Given the description of an element on the screen output the (x, y) to click on. 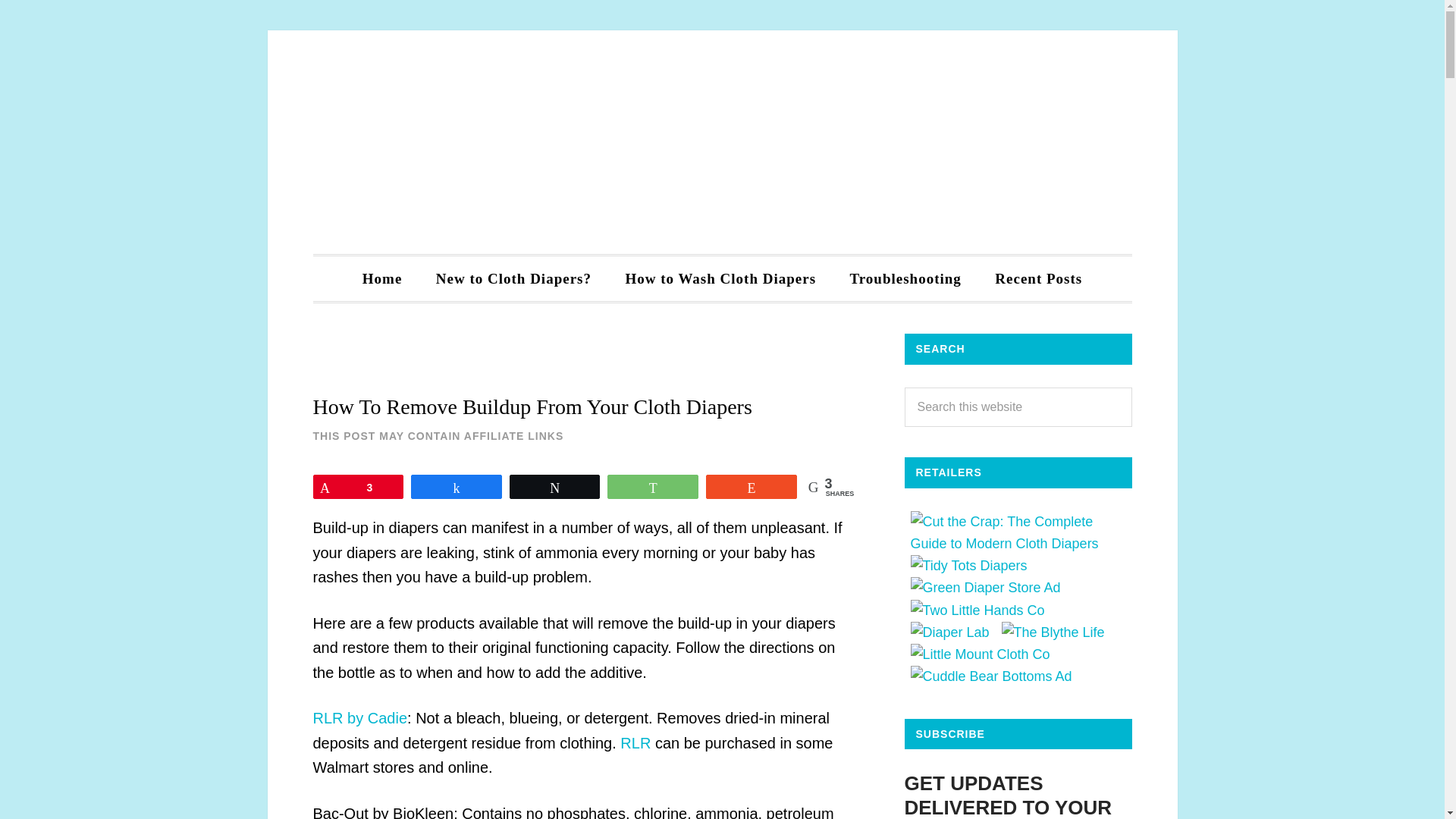
Recent Posts (1038, 278)
How to Wash Cloth Diapers (720, 278)
3 (358, 486)
RLR (635, 742)
Home (382, 278)
Troubleshooting (905, 278)
New to Cloth Diapers? (513, 278)
Recent posts (1038, 278)
